Given the description of an element on the screen output the (x, y) to click on. 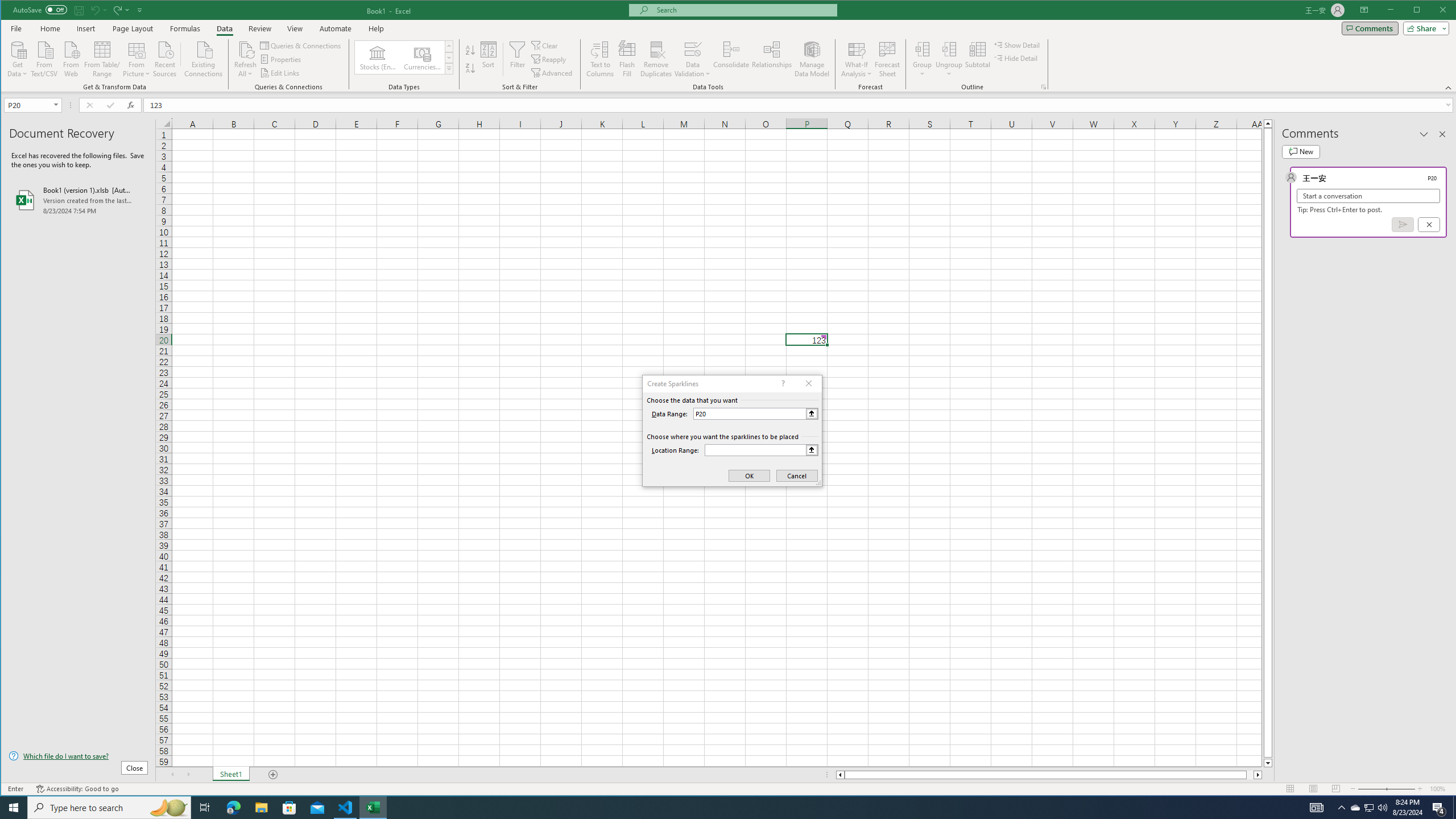
Get Data (17, 57)
What-If Analysis (856, 59)
Sort... (488, 59)
Currencies (English) (422, 57)
Class: MsoCommandBar (728, 45)
Consolidate... (731, 59)
